Given the description of an element on the screen output the (x, y) to click on. 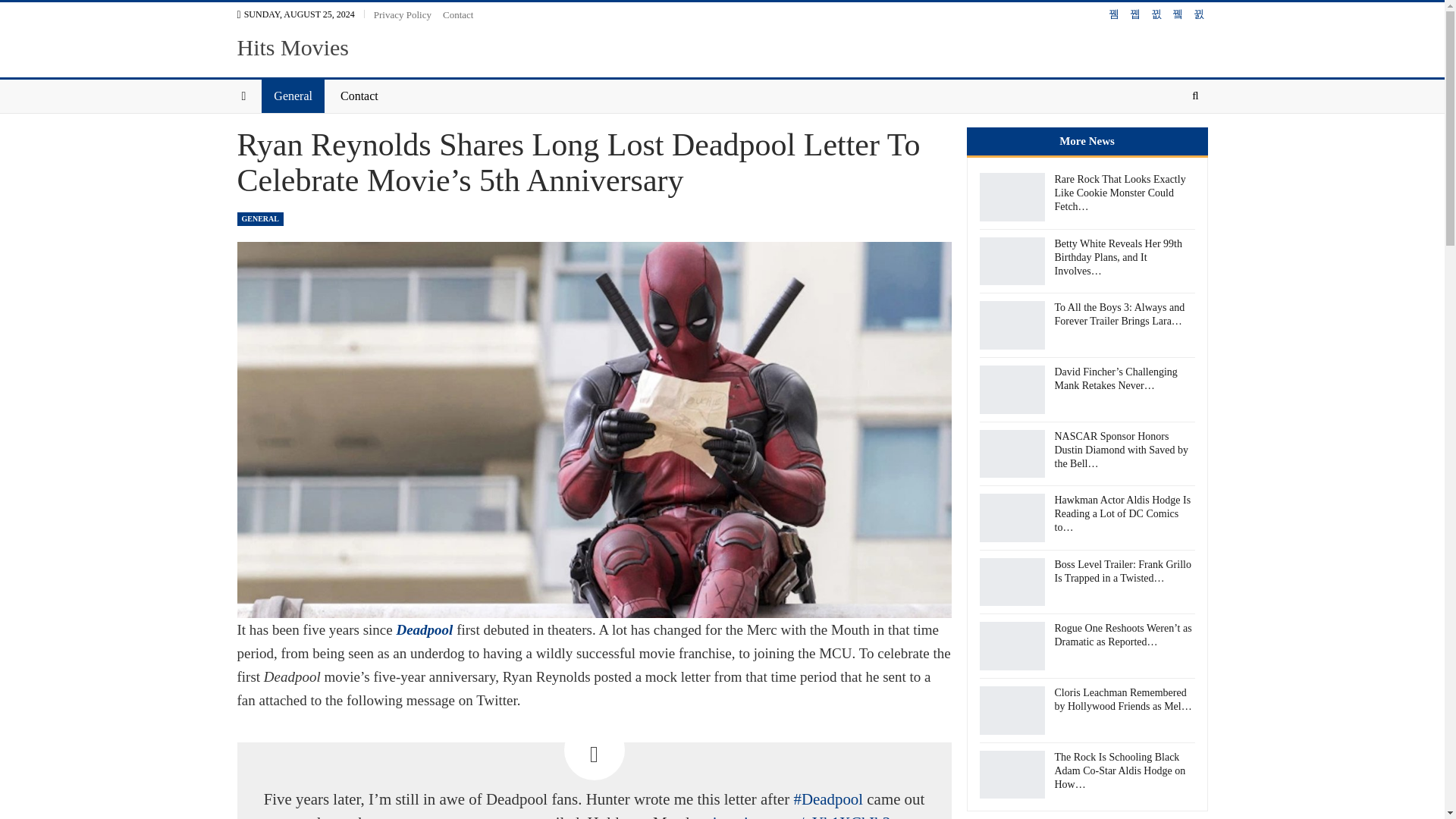
GENERAL (258, 219)
Deadpool (424, 629)
Privacy Policy (402, 14)
Contact (457, 14)
Contact (359, 96)
Hits Movies (292, 47)
General (293, 96)
